Given the description of an element on the screen output the (x, y) to click on. 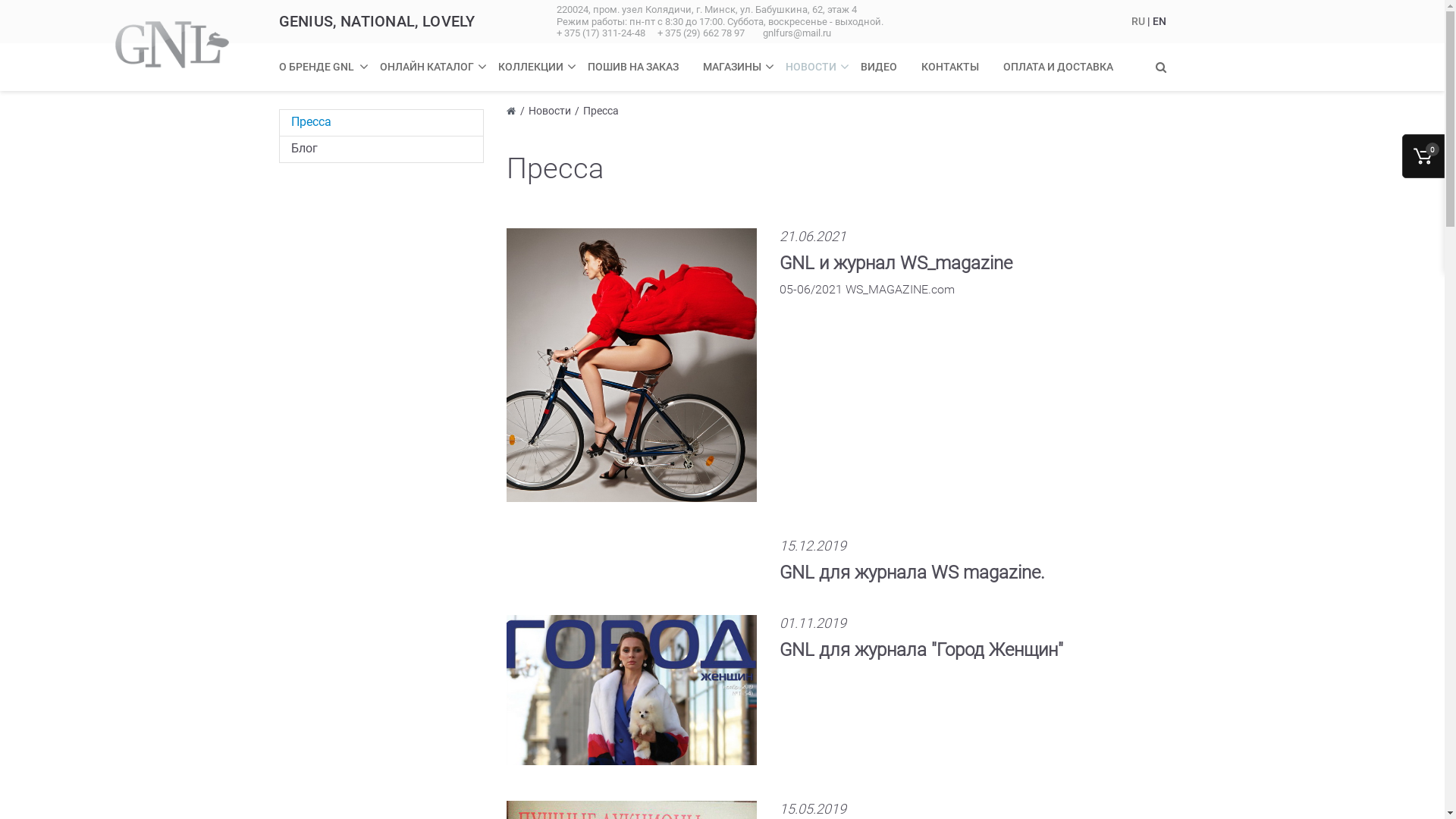
05-06/2021 WS_MAGAZINE.com Element type: text (866, 297)
+ 375 (29) 662 78 97 Element type: text (700, 33)
+ 375 (17) 311-24-48   Element type: text (602, 33)
gnlfurs@mail.ru Element type: text (796, 33)
| EN Element type: text (1155, 21)
RU Element type: text (1139, 21)
